Given the description of an element on the screen output the (x, y) to click on. 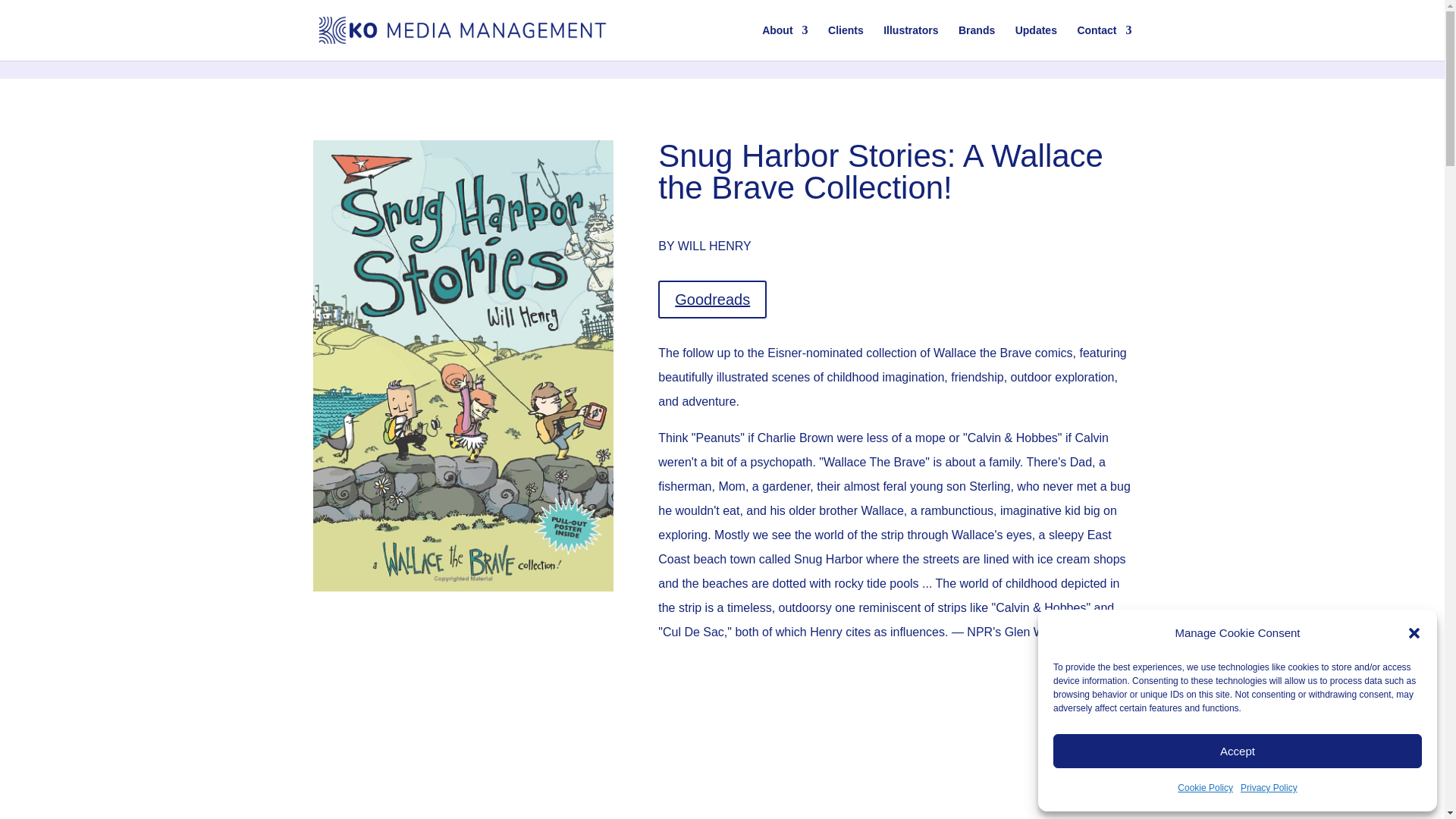
Illustrators (910, 42)
Goodreads (712, 299)
About (784, 42)
Accept (1237, 750)
Updates (1035, 42)
Clients (845, 42)
Privacy Policy (1268, 787)
Cookie Policy (1205, 787)
Brands (976, 42)
Contact (1104, 42)
